Given the description of an element on the screen output the (x, y) to click on. 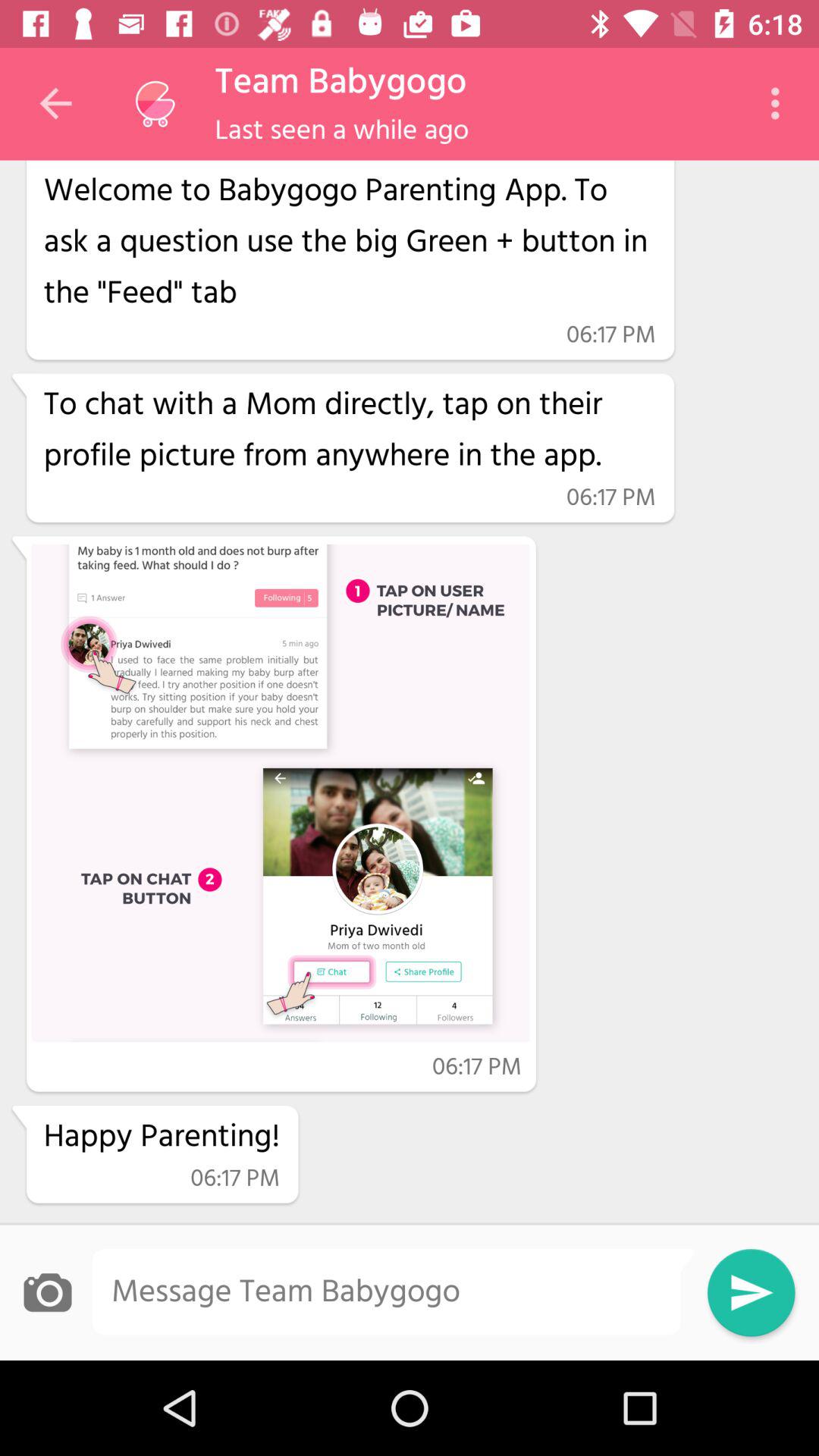
flip until the to chat with item (349, 430)
